Given the description of an element on the screen output the (x, y) to click on. 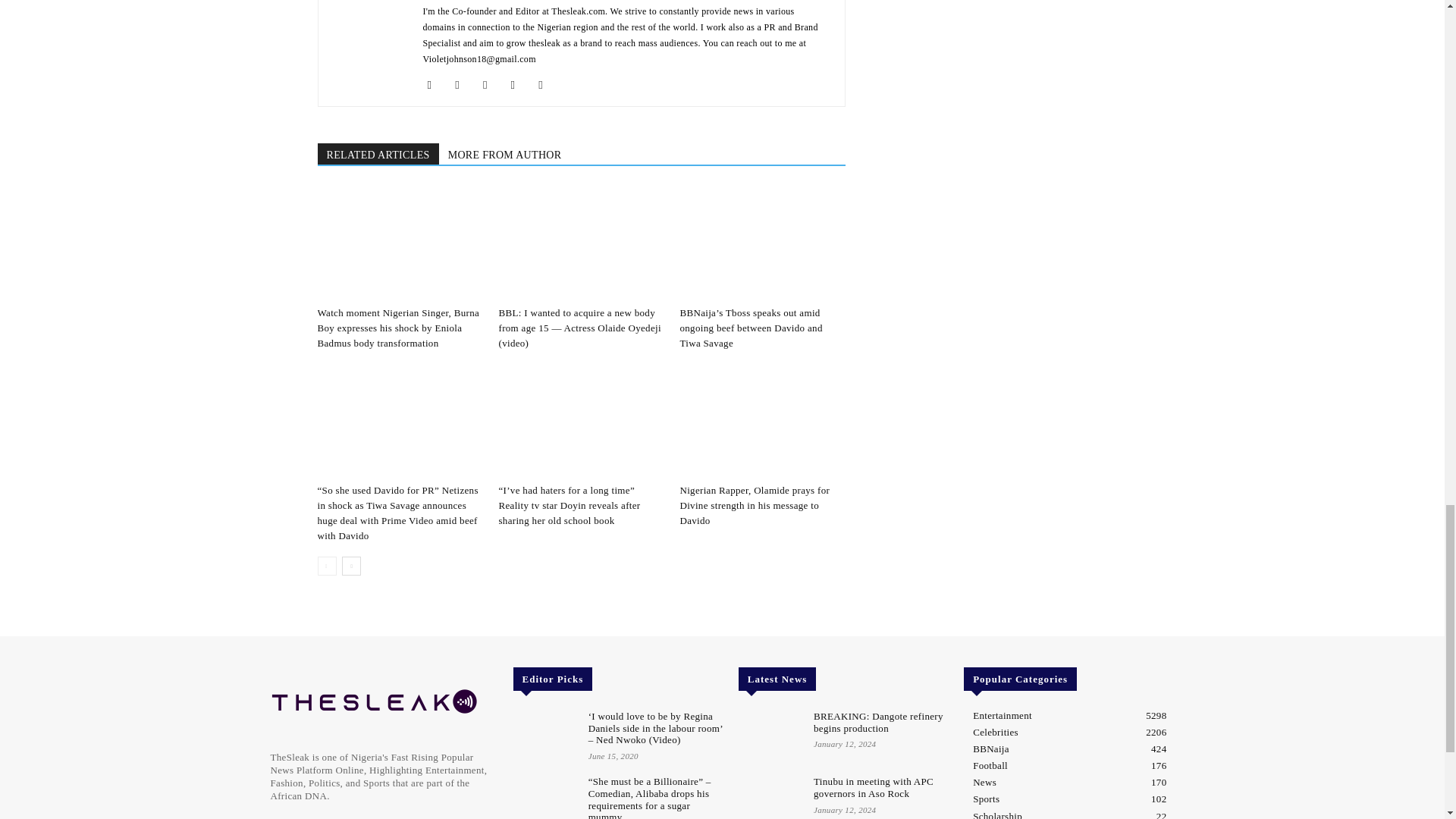
Instagram (462, 85)
Skype (518, 85)
Twitter (546, 85)
Facebook (435, 85)
Mail (491, 85)
